Given the description of an element on the screen output the (x, y) to click on. 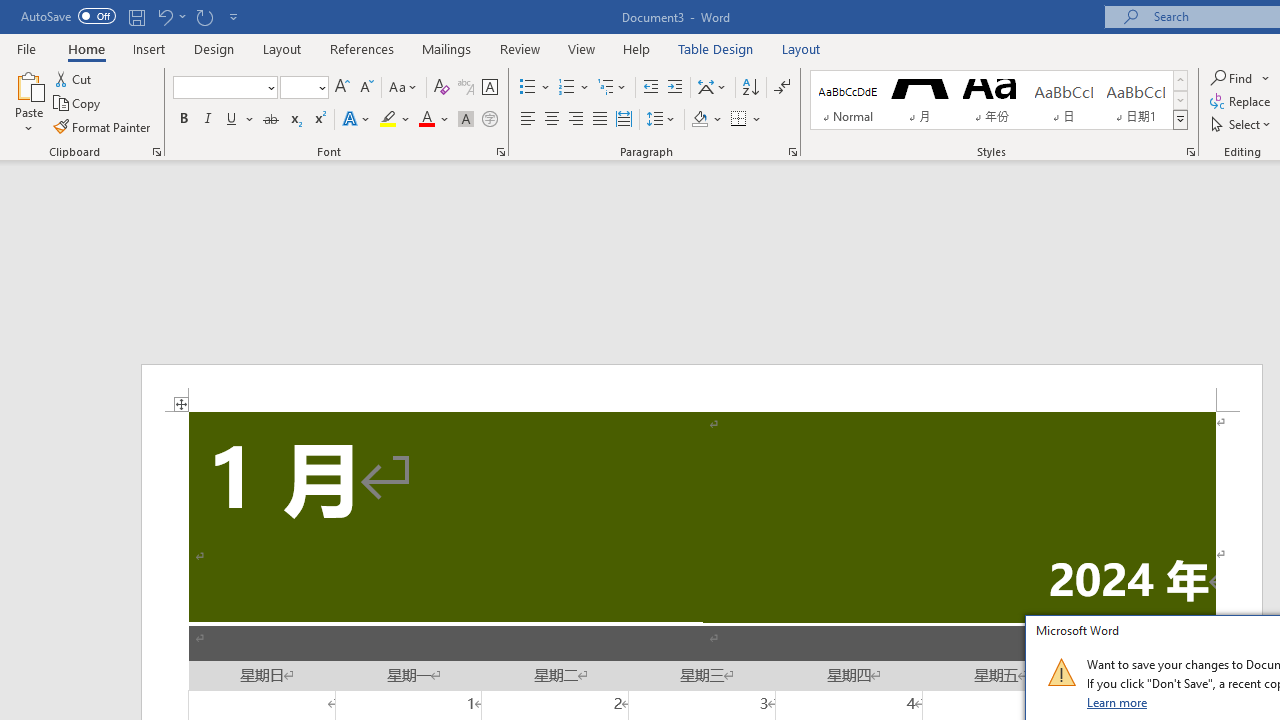
Clear Formatting (442, 87)
Text Effects and Typography (357, 119)
Show/Hide Editing Marks (781, 87)
Subscript (294, 119)
Paragraph... (792, 151)
Font... (500, 151)
Office Clipboard... (156, 151)
Header -Section 1- (701, 387)
Learn more (1118, 702)
Cut (73, 78)
